Given the description of an element on the screen output the (x, y) to click on. 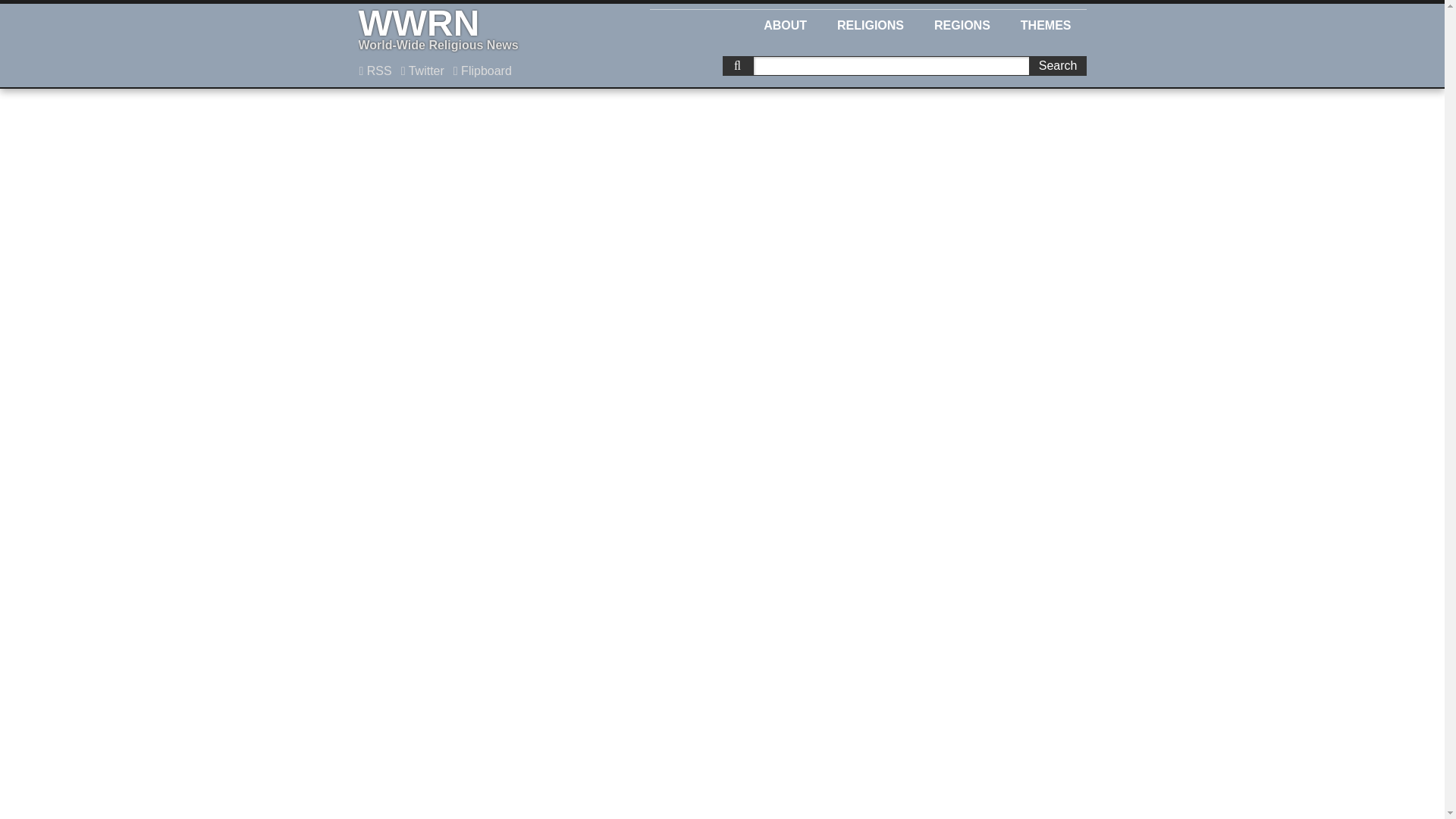
RSS (374, 70)
Twitter (485, 31)
REGIONS (422, 70)
THEMES (962, 23)
Flipboard (1046, 23)
ABOUT (482, 70)
RELIGIONS (785, 23)
Search (870, 23)
